Given the description of an element on the screen output the (x, y) to click on. 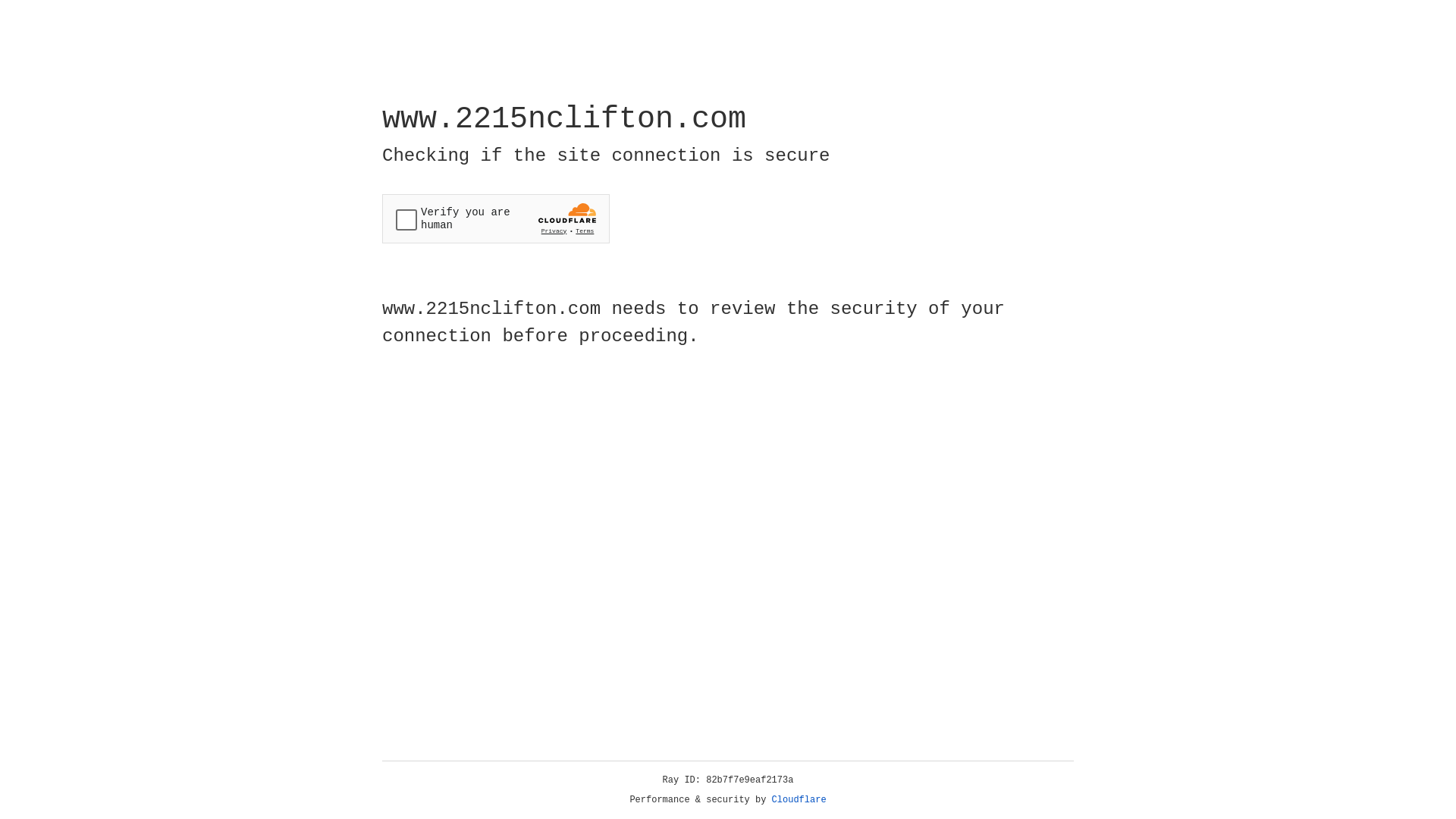
Cloudflare Element type: text (798, 799)
Widget containing a Cloudflare security challenge Element type: hover (495, 218)
